Given the description of an element on the screen output the (x, y) to click on. 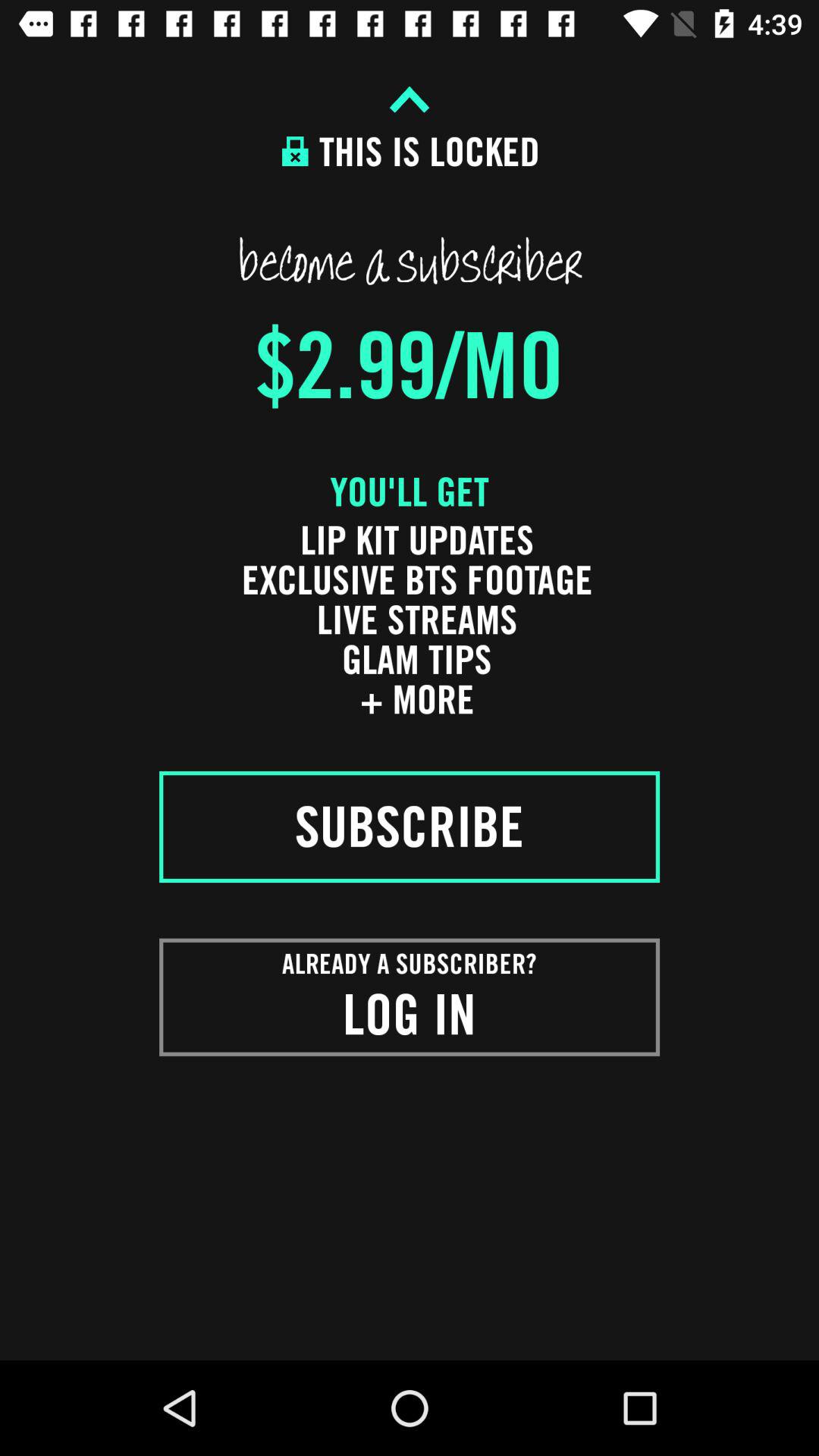
flip until the subscribe icon (409, 826)
